Given the description of an element on the screen output the (x, y) to click on. 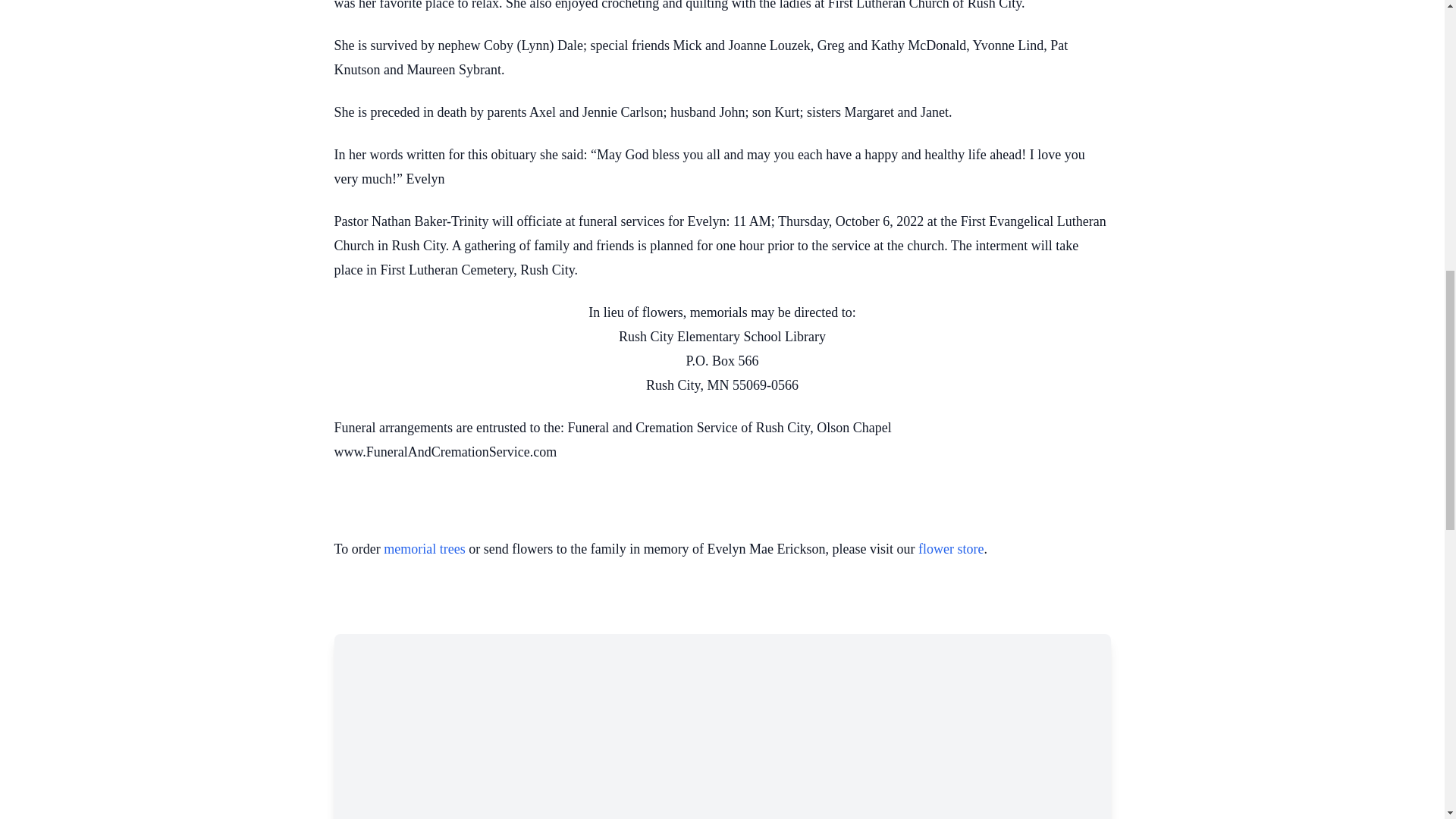
flower store (951, 548)
memorial trees (424, 548)
